Given the description of an element on the screen output the (x, y) to click on. 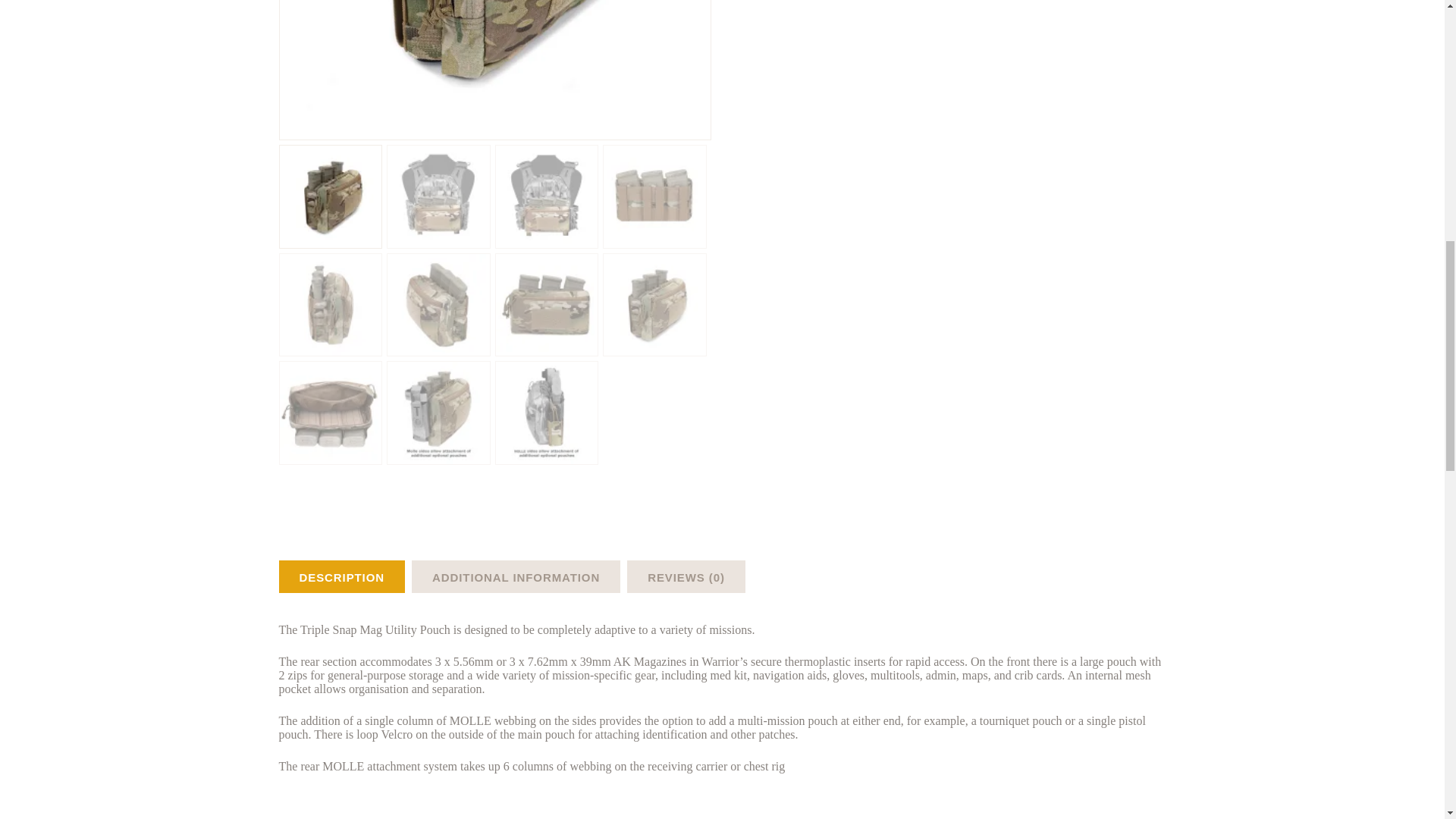
W-EO-TSMP-UP-MC (496, 70)
